Given the description of an element on the screen output the (x, y) to click on. 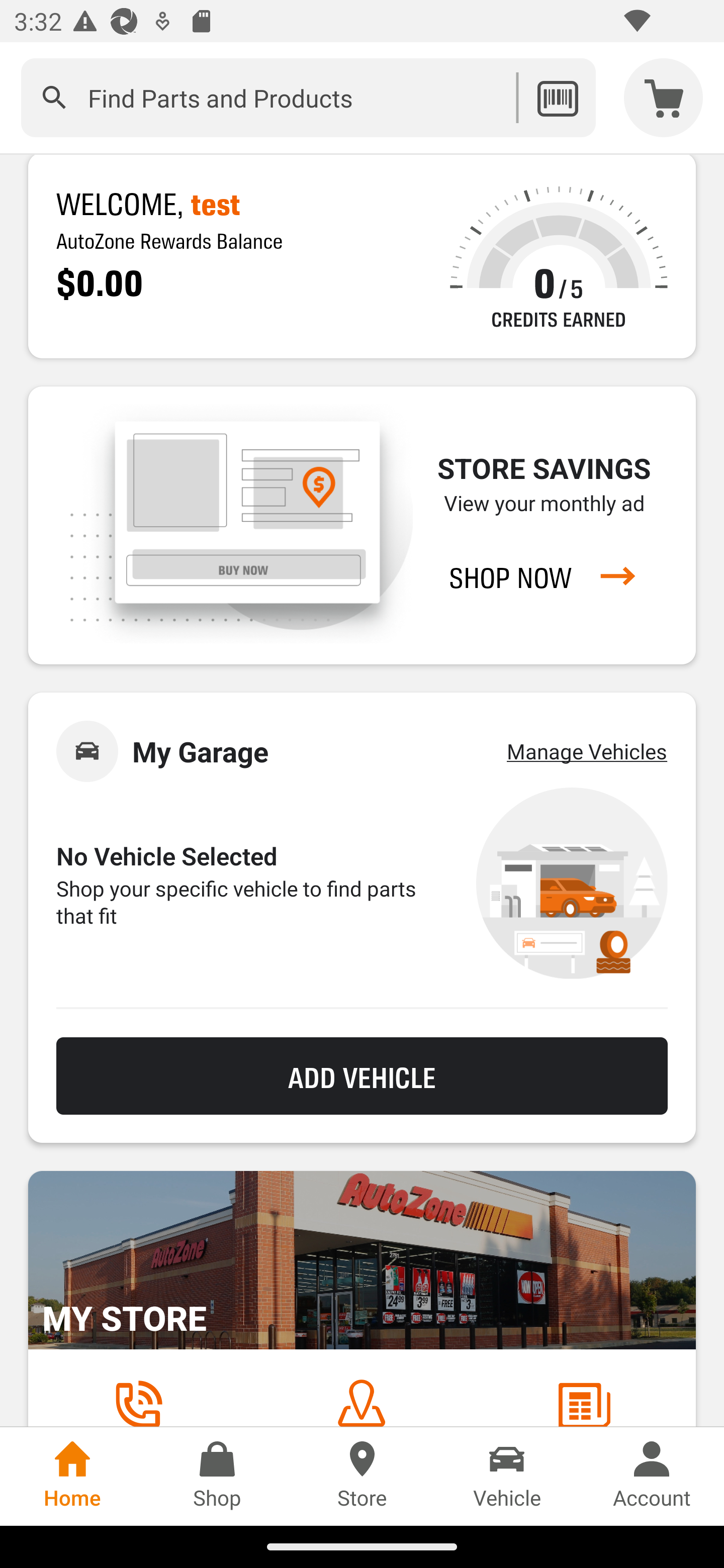
 scan-product-to-search  (557, 97)
 (54, 97)
Cart, no items  (663, 97)
Manage Vehicles (586, 750)
ADD VEHICLE (361, 1076)
Call Store  (138, 1402)
Directions  (361, 1402)
Store Info  (584, 1402)
Home (72, 1475)
Shop (216, 1475)
Store (361, 1475)
Vehicle (506, 1475)
Account (651, 1475)
